Given the description of an element on the screen output the (x, y) to click on. 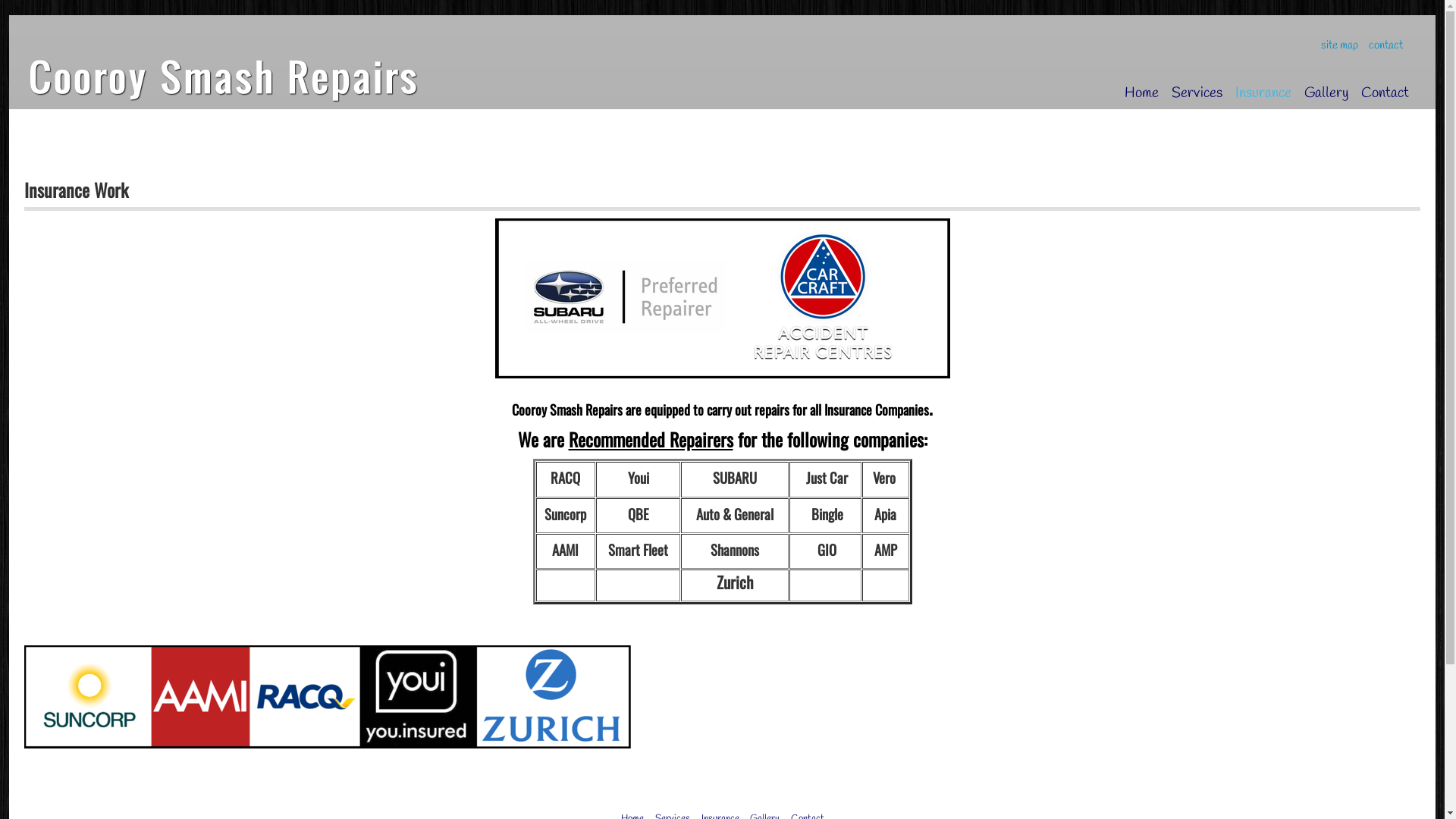
Gallery Element type: text (1324, 92)
Home Element type: text (1140, 92)
Insurance Element type: text (1261, 92)
contact Element type: text (1386, 45)
Contact Element type: text (1383, 92)
site map Element type: text (1340, 45)
Services Element type: text (1195, 92)
